Given the description of an element on the screen output the (x, y) to click on. 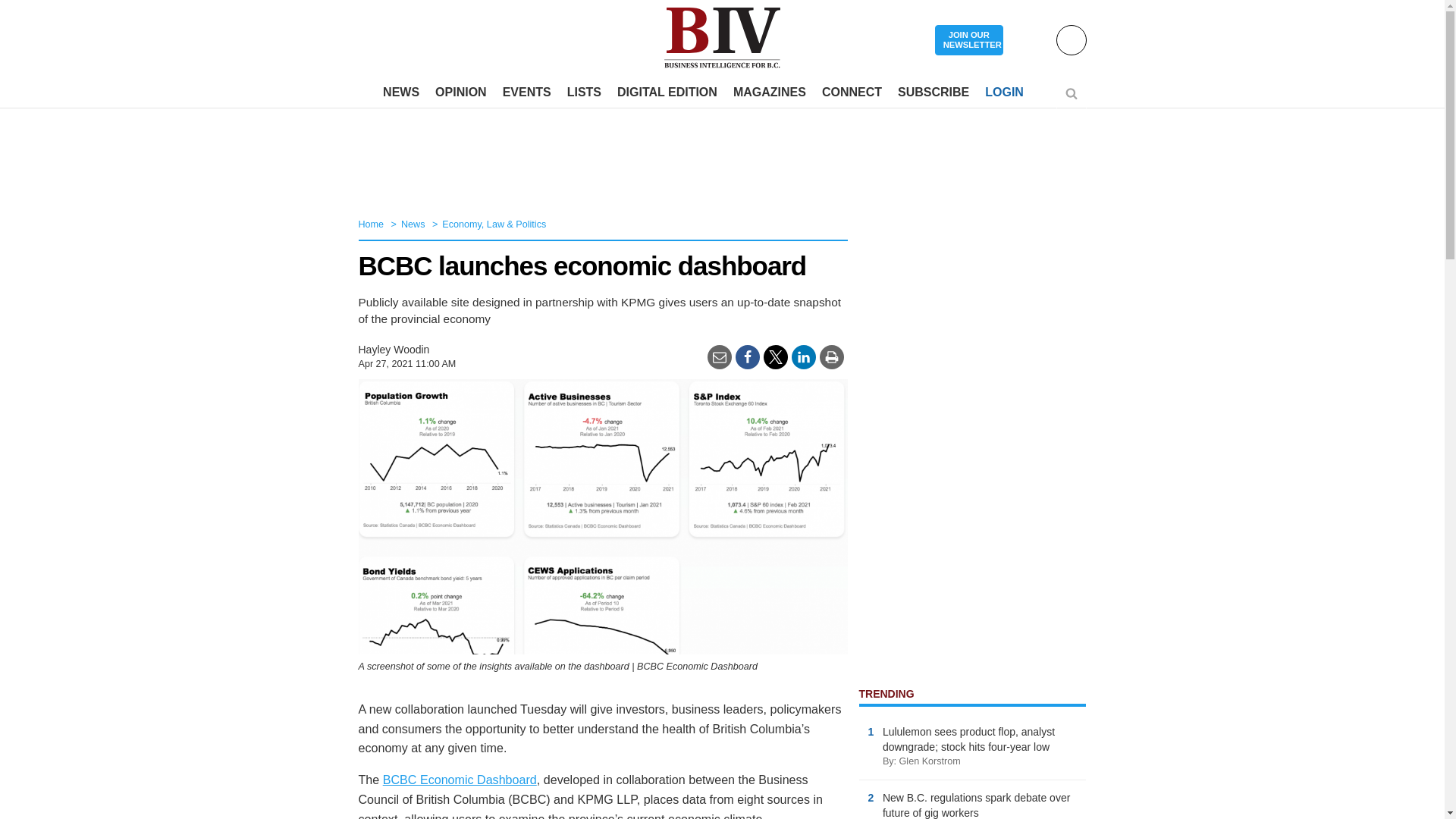
DIGITAL EDITION (667, 92)
LISTS (583, 92)
3rd party ad content (721, 157)
LOGIN (1003, 92)
SUBSCRIBE (933, 92)
OPINION (461, 92)
MAGAZINES (769, 92)
EVENTS (526, 92)
JOIN OUR NEWSLETTER (968, 40)
NEWS (401, 92)
